Given the description of an element on the screen output the (x, y) to click on. 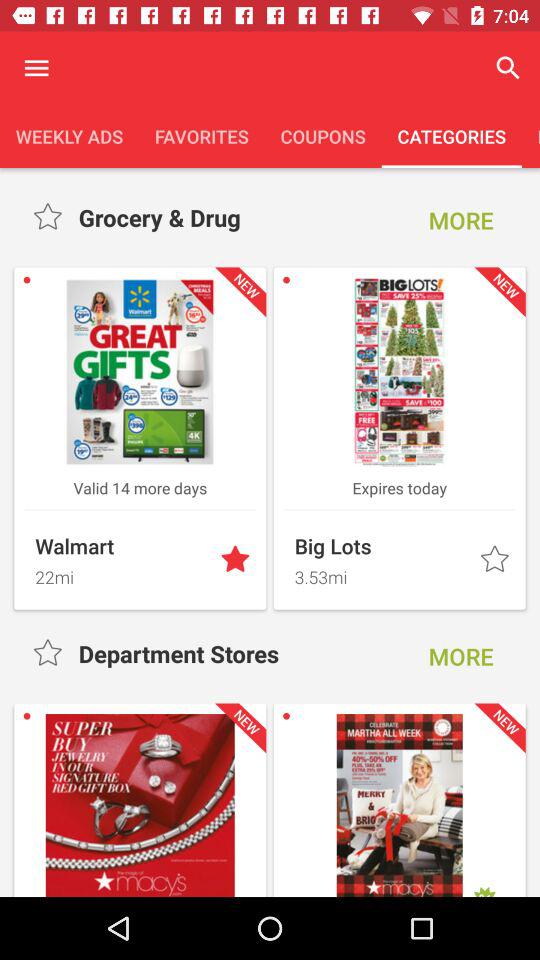
add to favorite (49, 653)
